Given the description of an element on the screen output the (x, y) to click on. 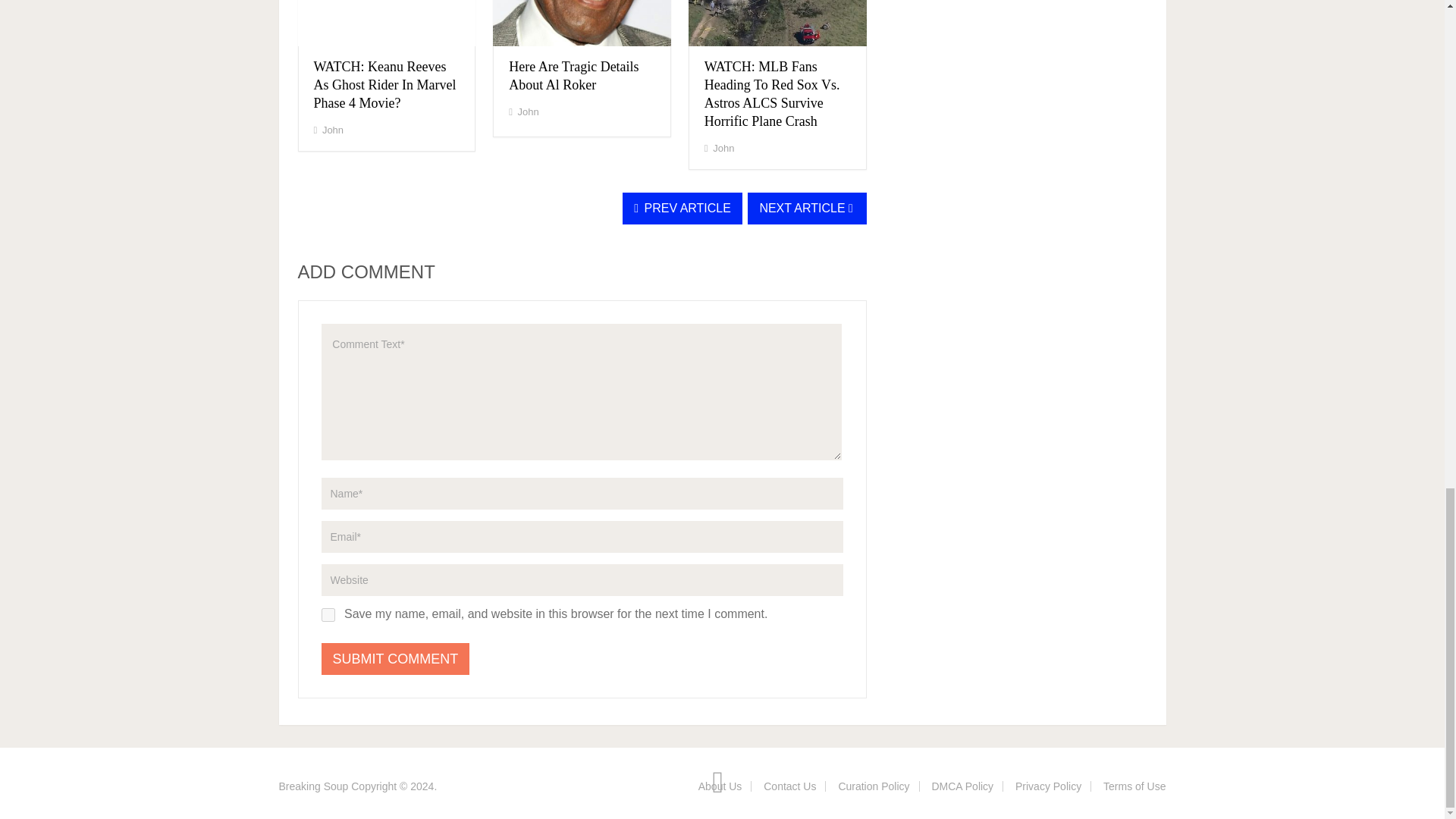
Submit Comment (395, 658)
WATCH: Keanu Reeves As Ghost Rider In Marvel Phase 4 Movie? (385, 84)
yes (327, 614)
John (332, 129)
